Given the description of an element on the screen output the (x, y) to click on. 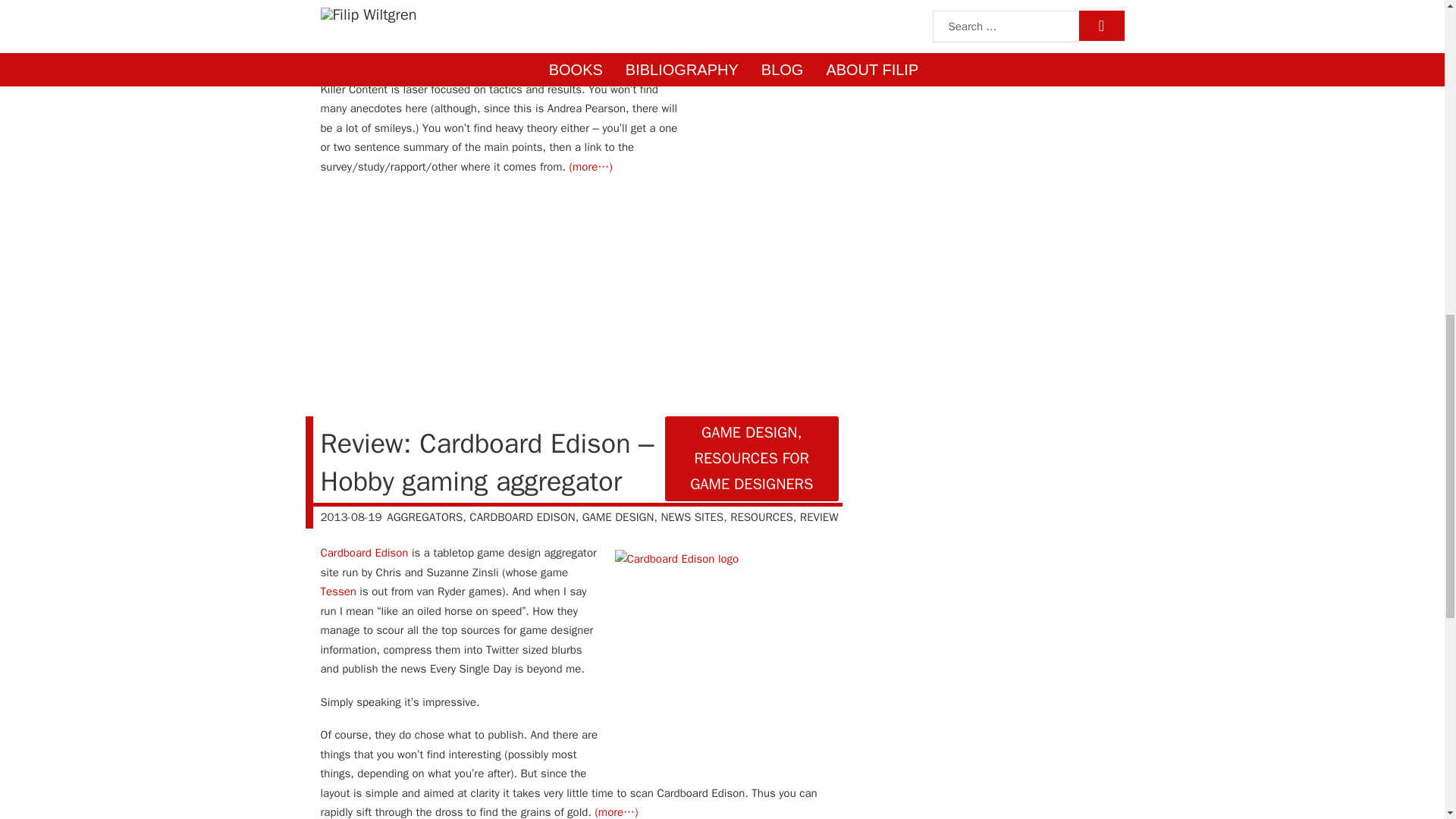
MARKETING (626, 3)
AGGREGATORS (425, 517)
CARDBOARD EDISON (521, 517)
RESOURCES (761, 517)
RESOURCES (807, 3)
BOOKS (513, 3)
GAME DESIGN (617, 517)
BUSINESS (564, 3)
RECOMMENDATIONS (715, 3)
NEWS SITES (692, 517)
